Given the description of an element on the screen output the (x, y) to click on. 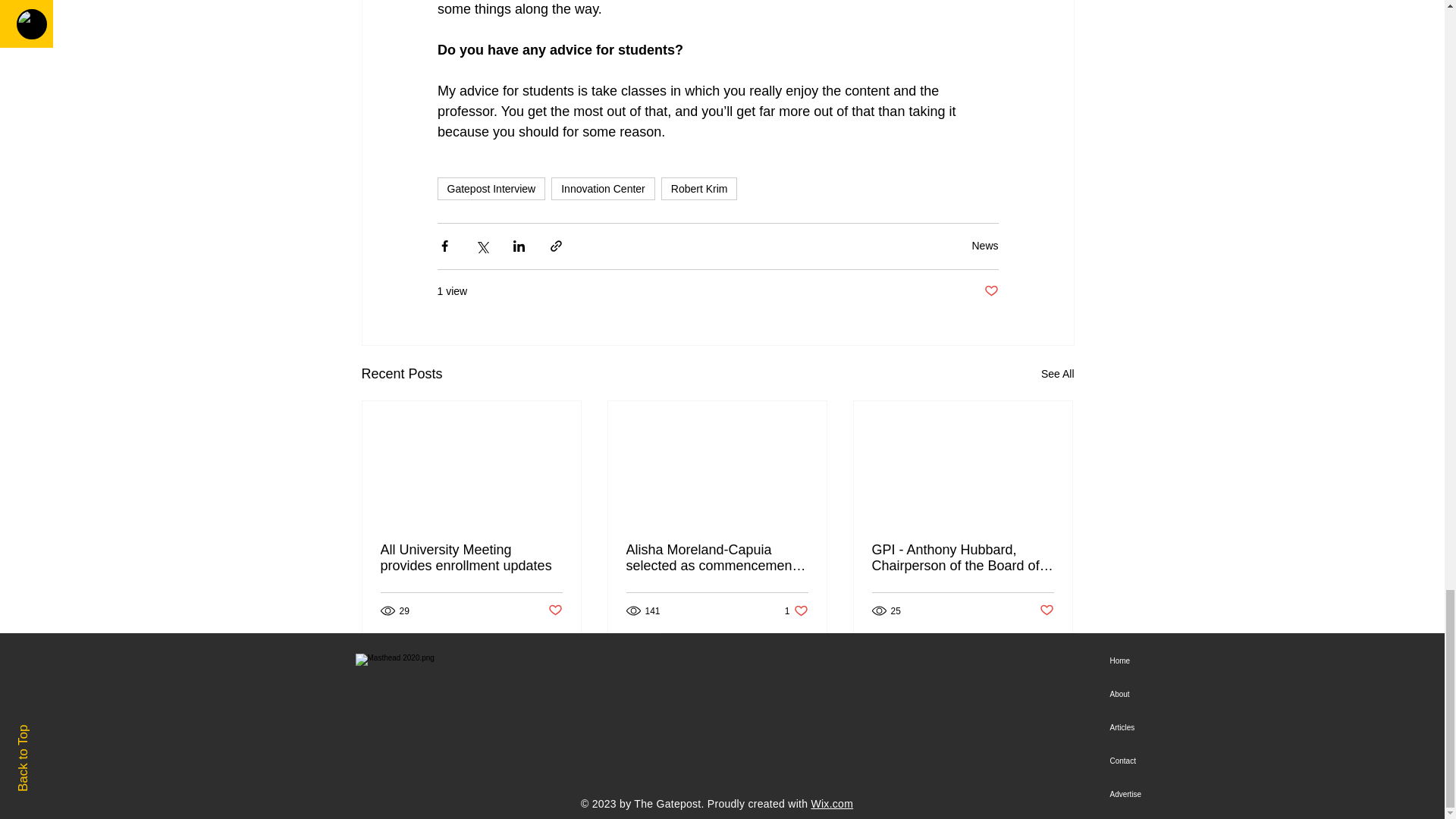
Post not marked as liked (554, 610)
See All (796, 610)
Gatepost Interview (1057, 373)
GPI - Anthony Hubbard, Chairperson of the Board of Trustees (490, 188)
All University Meeting provides enrollment updates (963, 558)
Post not marked as liked (471, 558)
News (991, 291)
Robert Krim (984, 245)
Alisha Moreland-Capuia selected as commencement speaker (699, 188)
